Given the description of an element on the screen output the (x, y) to click on. 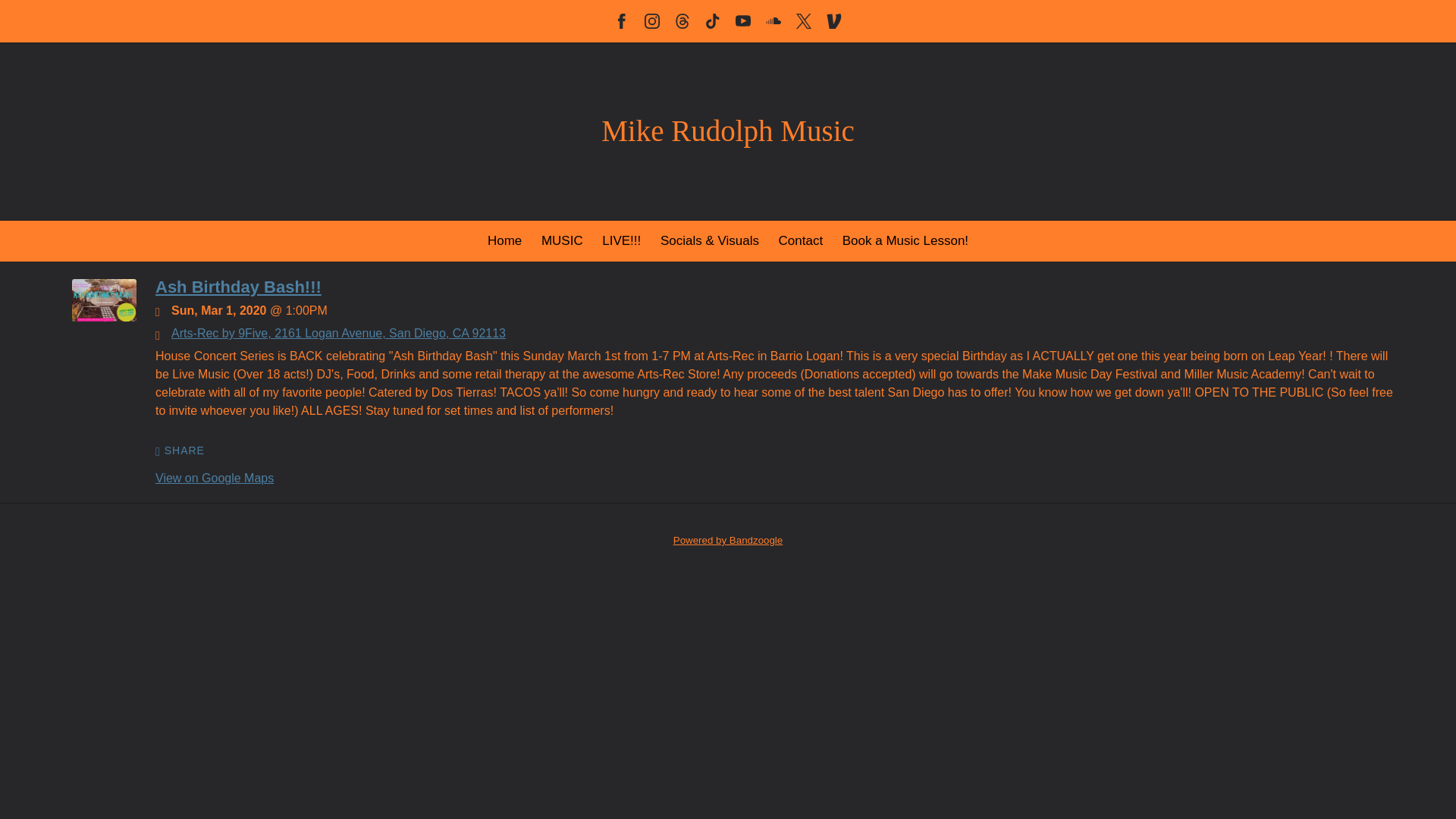
Ash Birthday Bash!!! (238, 286)
MUSIC (562, 240)
SHARE (180, 451)
Arts-Rec by 9Five, 2161 Logan Avenue, San Diego, CA 92113 (338, 332)
Mike Rudolph Music (727, 133)
Ash Birthday Bash!!! (103, 317)
Home (504, 240)
Visit venue website (338, 332)
Contact (801, 240)
LIVE!!! (621, 240)
View on Google Maps (214, 477)
Powered by Bandzoogle (727, 540)
Powered by Bandzoogle (727, 540)
Book a Music Lesson! (905, 240)
